Given the description of an element on the screen output the (x, y) to click on. 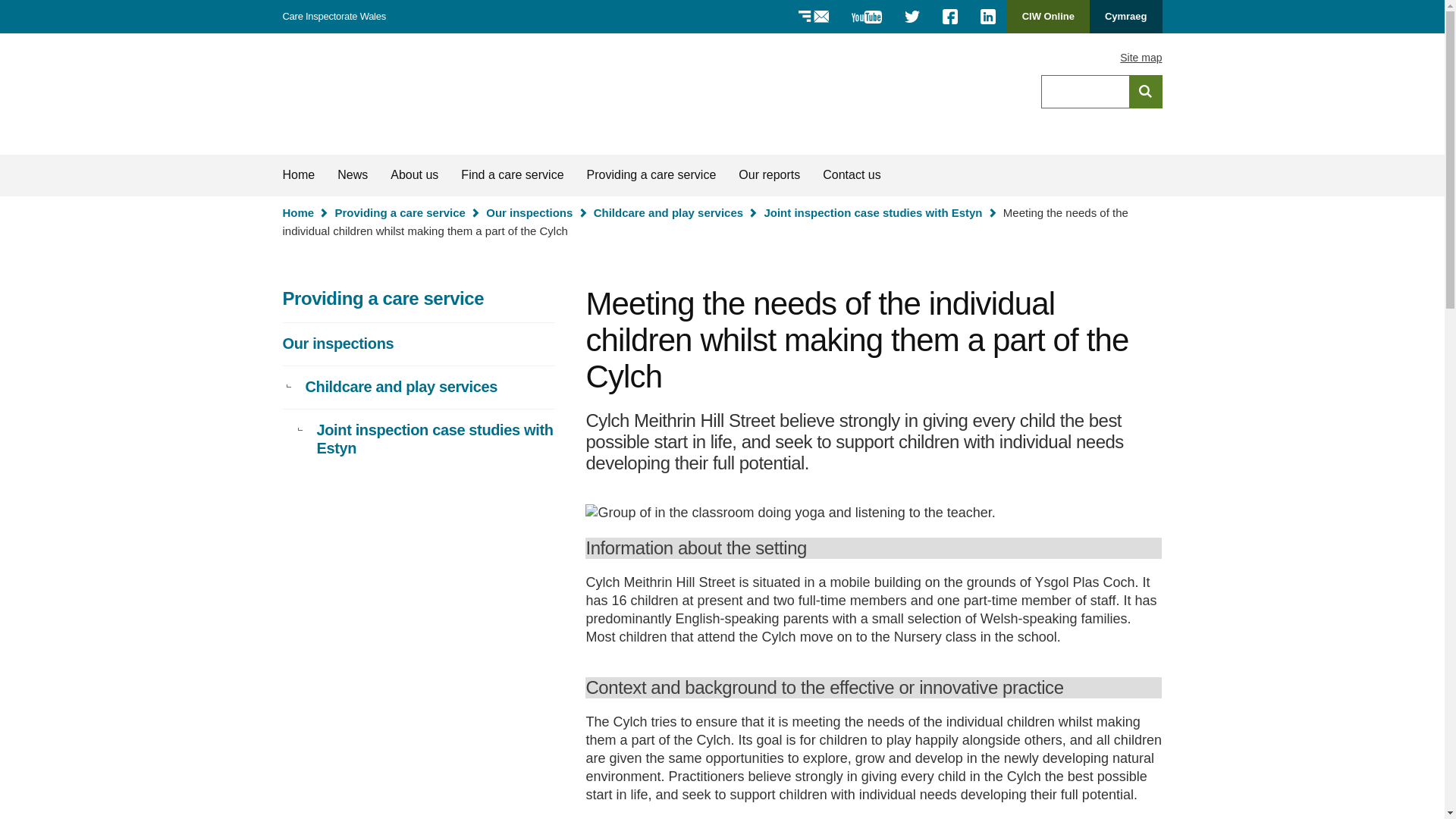
Find a care service (512, 174)
Our inspections (418, 343)
Childcare and play services (418, 387)
Twitter (912, 16)
Our reports (768, 174)
Linkedin (988, 16)
Newsletter (813, 16)
Joint inspection case studies with Estyn (418, 439)
YouTube (866, 16)
